Given the description of an element on the screen output the (x, y) to click on. 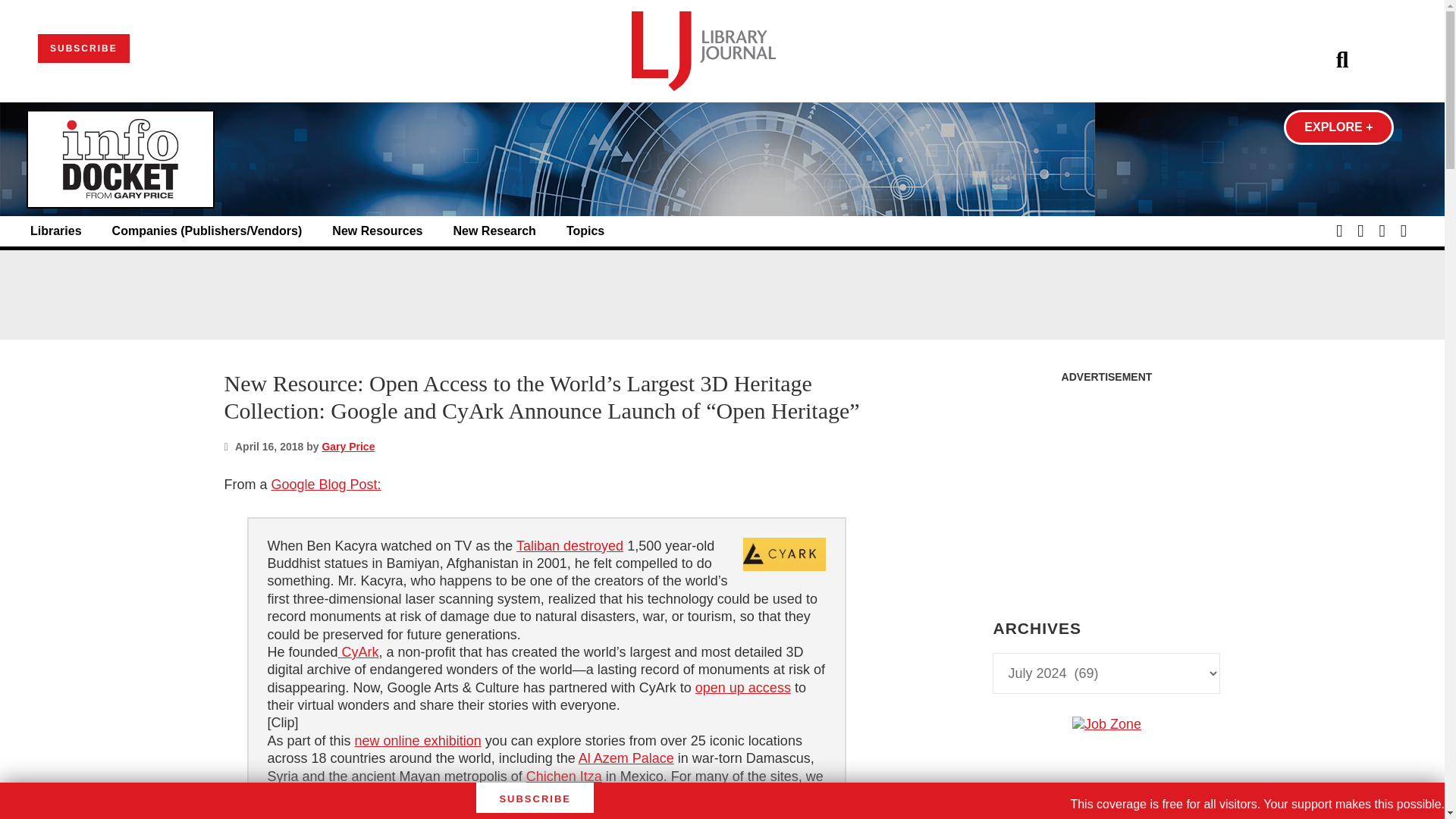
New Resources (376, 231)
3rd party ad content (1106, 816)
3rd party ad content (721, 294)
3rd party ad content (1106, 485)
SUBSCRIBE (83, 48)
Libraries (55, 231)
